Given the description of an element on the screen output the (x, y) to click on. 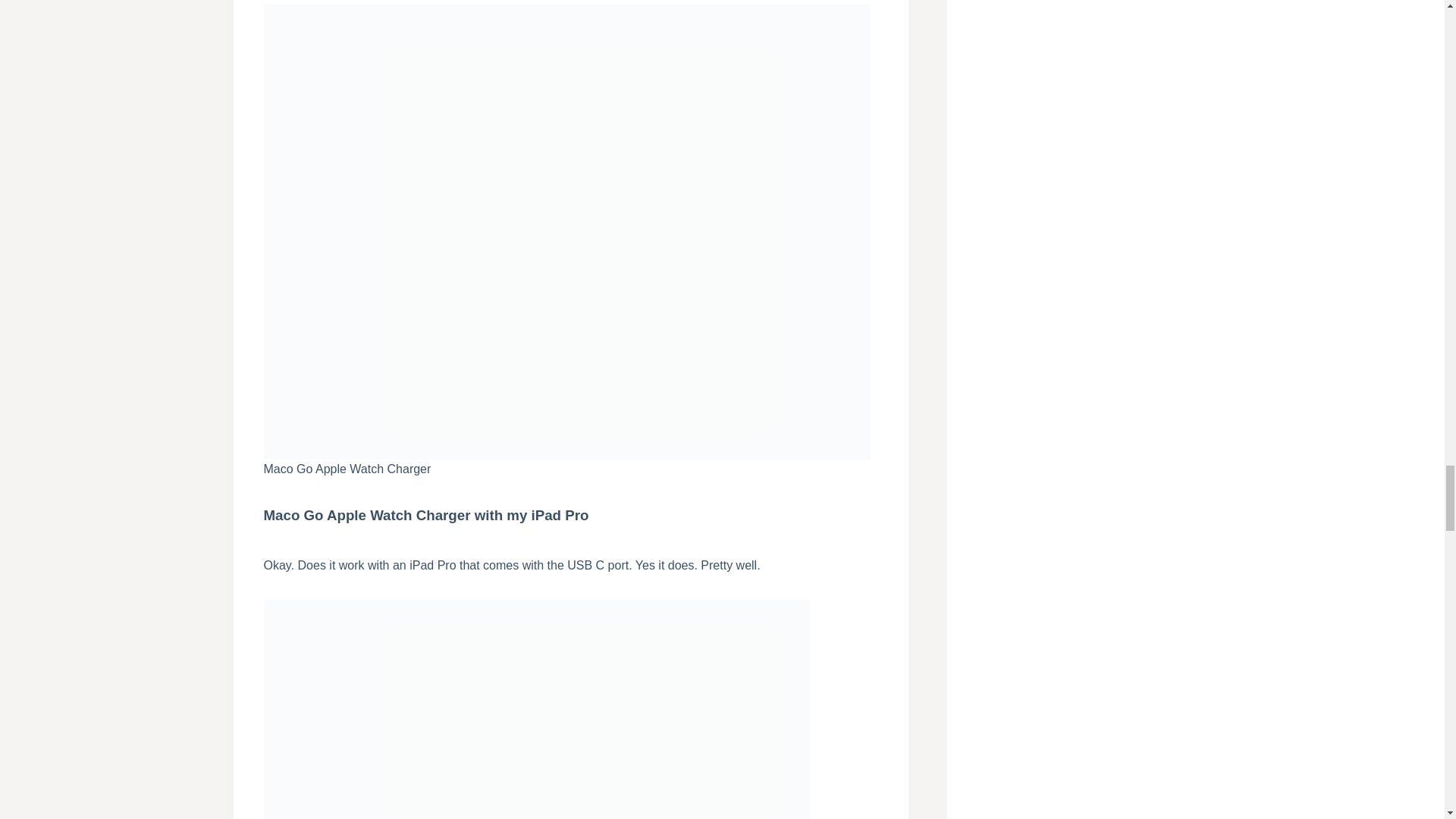
Maco Go Apple Watch Charger 10 (536, 709)
